Given the description of an element on the screen output the (x, y) to click on. 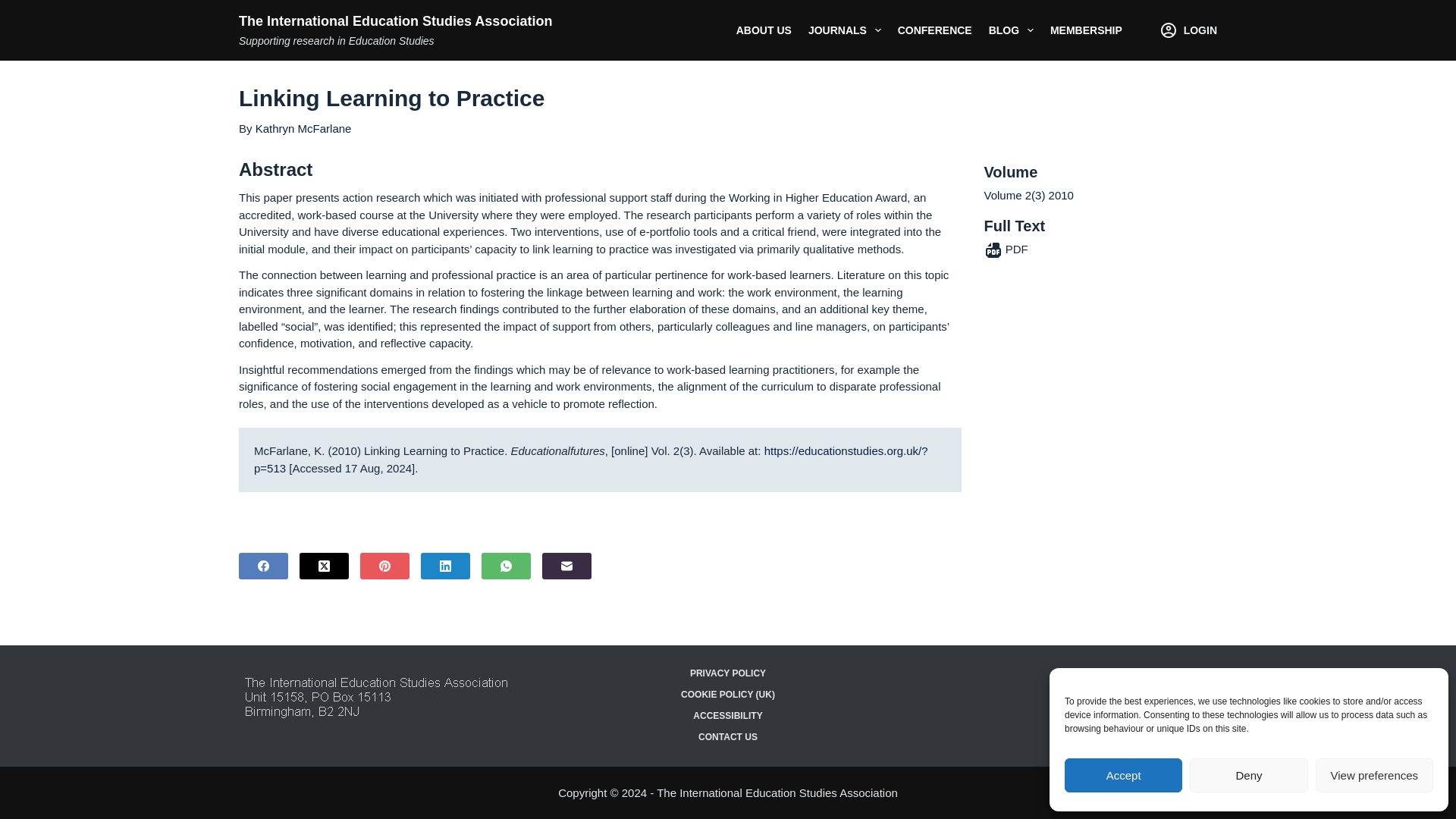
View preferences (1374, 775)
Linking Learning to Practice (727, 98)
ABOUT US (763, 30)
Kathryn McFarlane (304, 128)
JOURNALS (844, 30)
CONFERENCE (934, 30)
Accept (1123, 775)
LOGIN (1188, 30)
The International Education Studies Association (394, 20)
Posts by Kathryn McFarlane (304, 128)
